Given the description of an element on the screen output the (x, y) to click on. 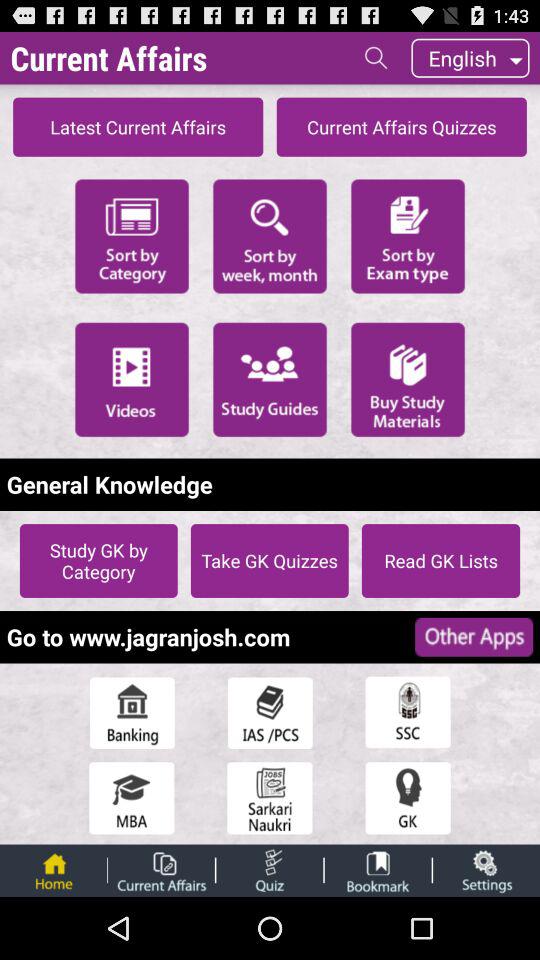
more options to study (269, 379)
